Given the description of an element on the screen output the (x, y) to click on. 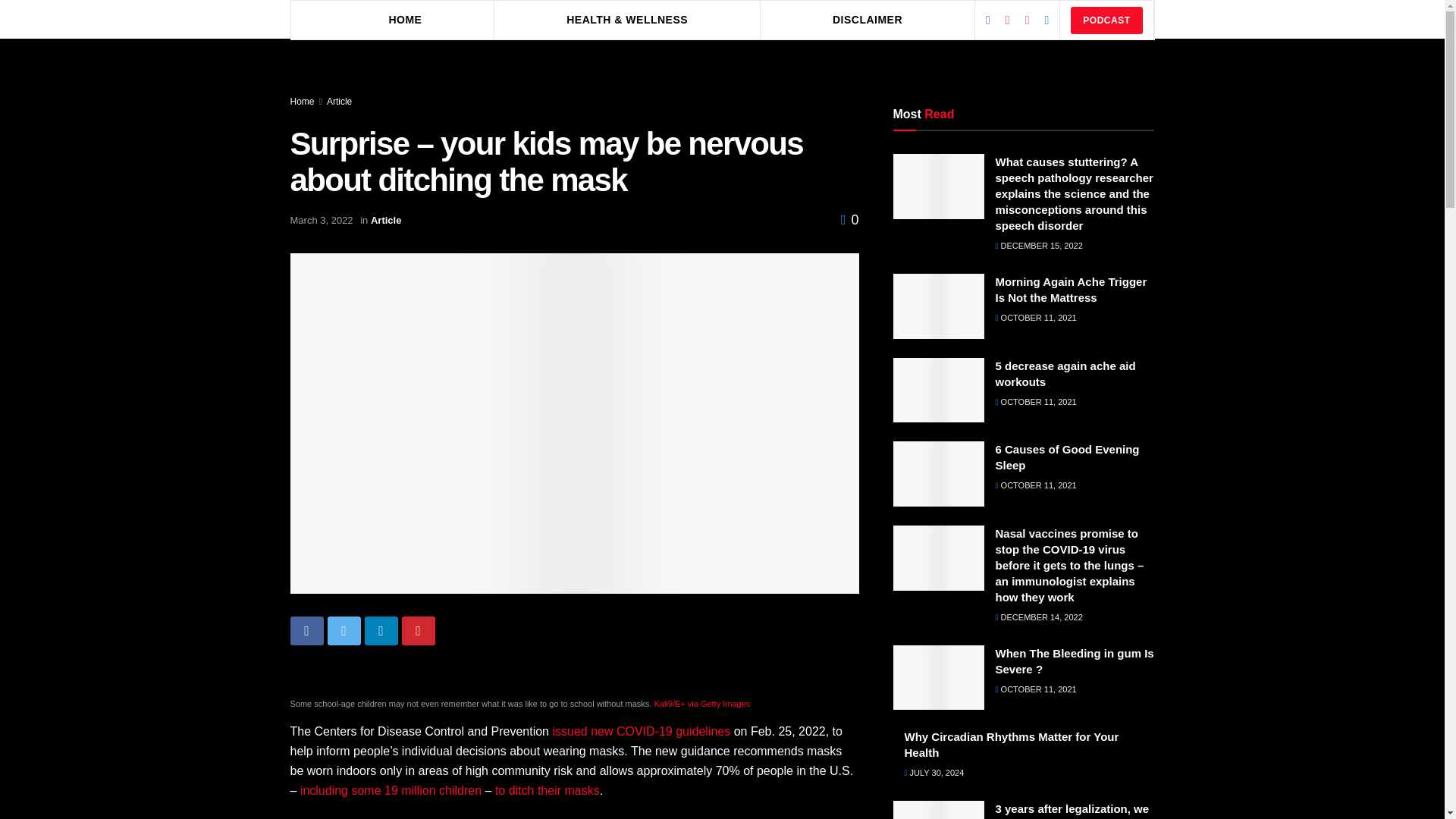
PODCAST (1105, 20)
Article (339, 101)
HOME (405, 19)
Article (386, 220)
DISCLAIMER (867, 19)
issued new COVID-19 guidelines (640, 730)
Home (301, 101)
including some 19 million children (390, 789)
to ditch their masks (547, 789)
March 3, 2022 (320, 220)
0 (850, 219)
